Given the description of an element on the screen output the (x, y) to click on. 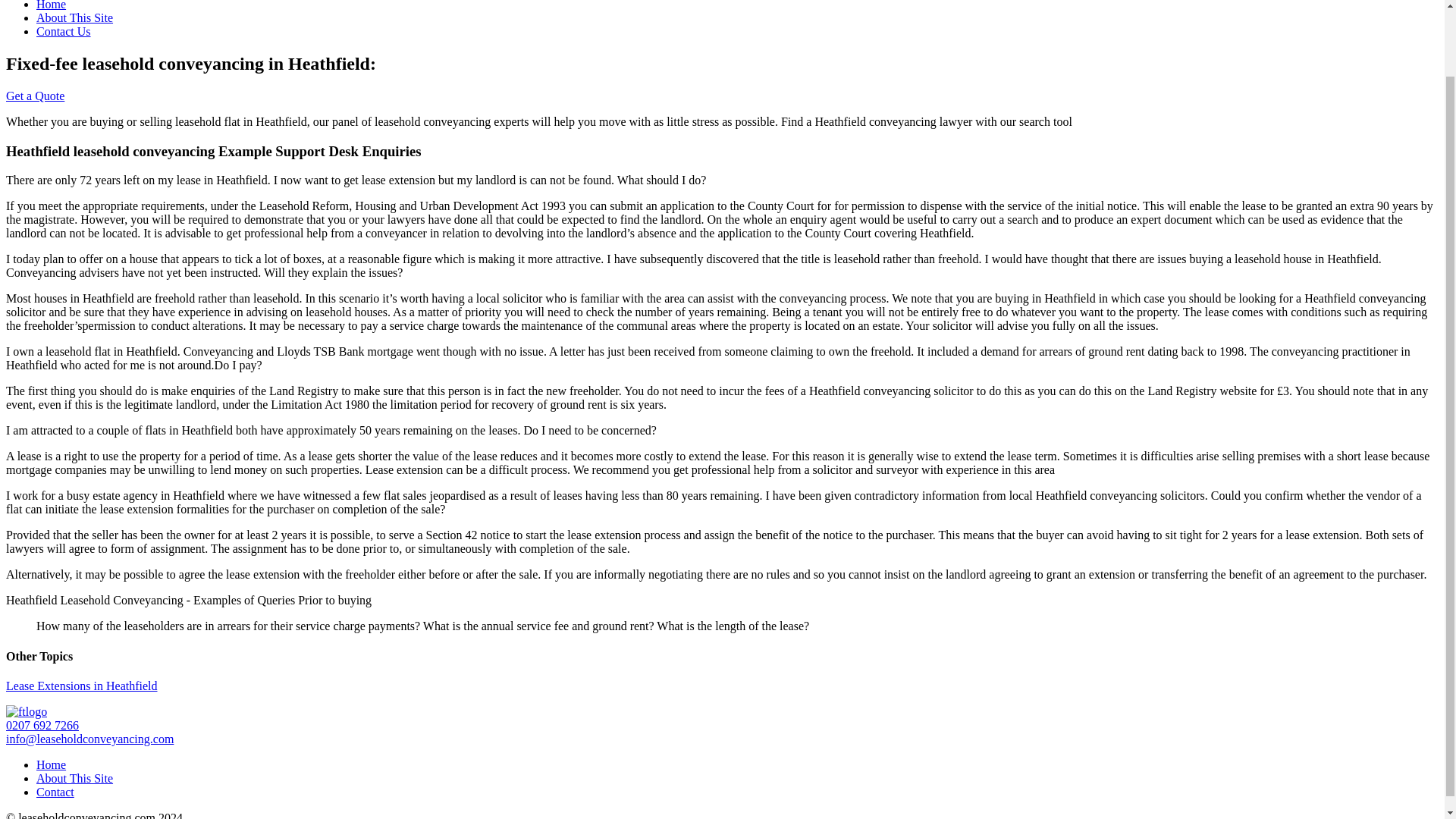
Get a Quote (34, 95)
0207 692 7266 (41, 725)
Lease Extensions in Heathfield (81, 685)
Contact Us (63, 31)
About This Site (74, 17)
Home (50, 764)
About This Site (74, 778)
Contact (55, 791)
Home (50, 5)
